Given the description of an element on the screen output the (x, y) to click on. 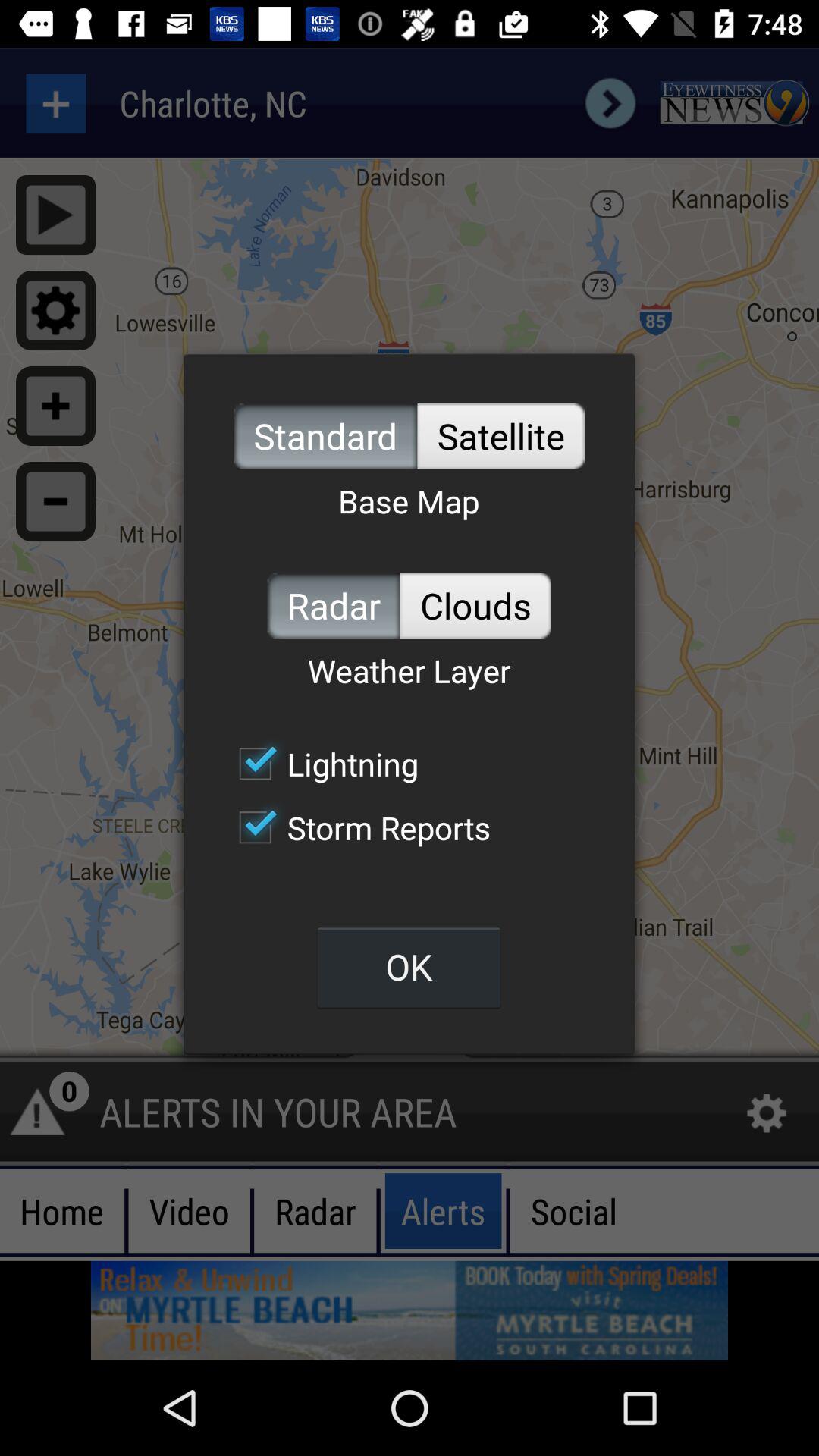
flip to the radar (333, 605)
